Given the description of an element on the screen output the (x, y) to click on. 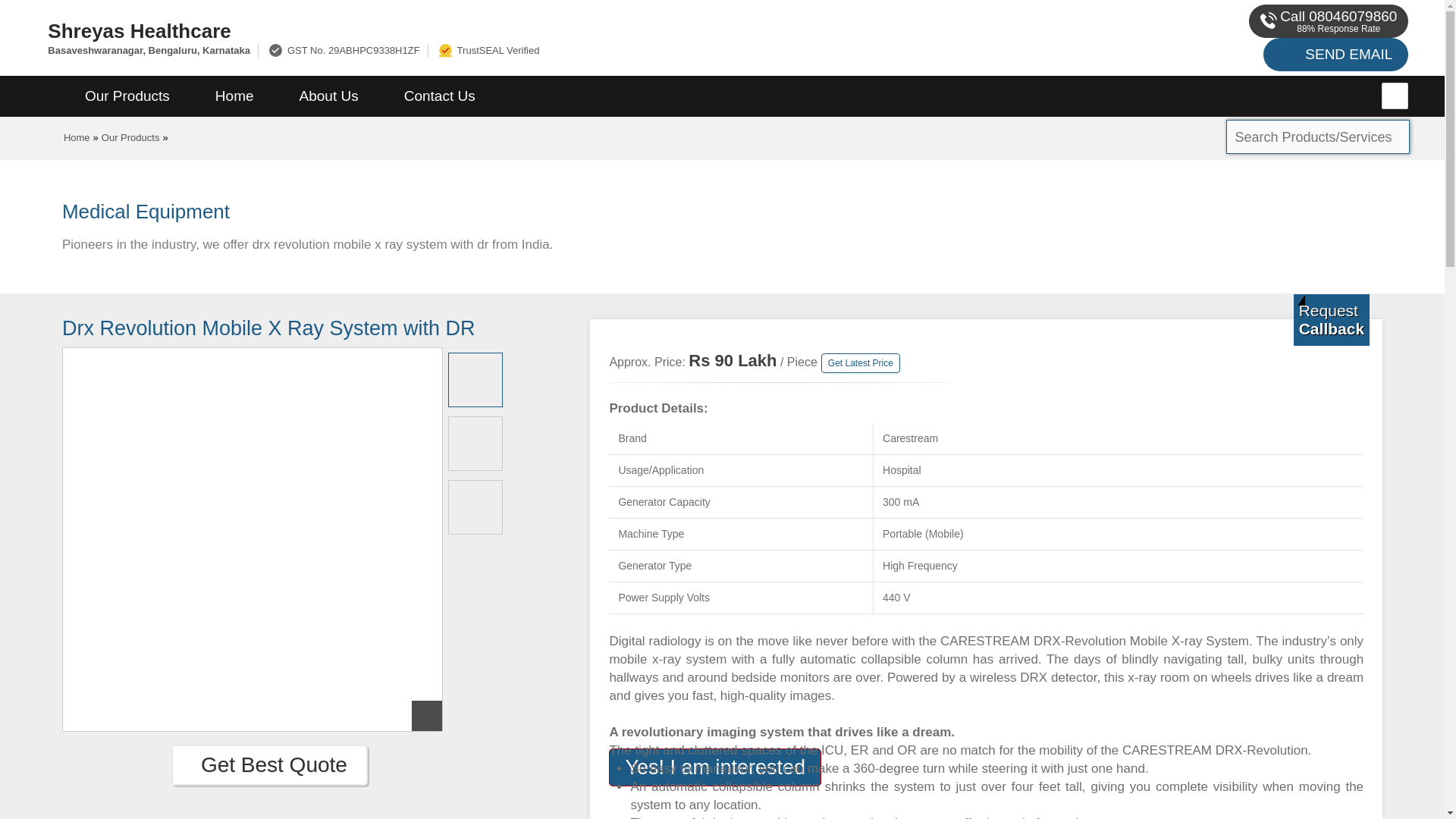
Home (77, 137)
Shreyas Healthcare (485, 31)
About Us (328, 96)
Our Products (127, 96)
Home (234, 96)
Get a Call from us (1332, 319)
Our Products (130, 137)
Contact Us (439, 96)
